Given the description of an element on the screen output the (x, y) to click on. 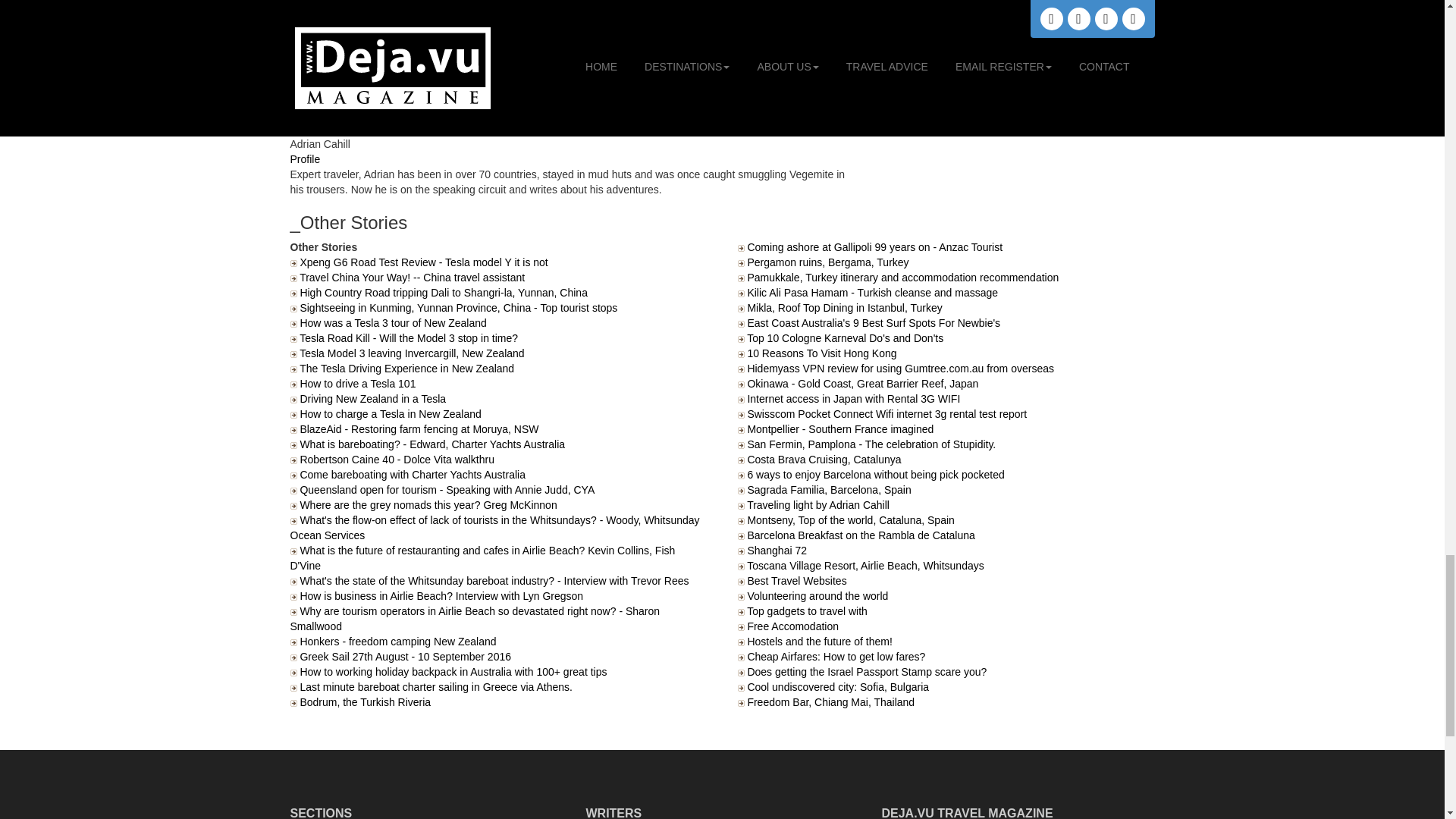
Profile (304, 159)
High Country Road tripping Dali to Shangri-la, Yunnan, China (443, 292)
Travel China Your Way! -- China travel assistant (411, 277)
Xpeng G6 Road Test Review - Tesla model Y it is not (423, 262)
The Tesla Driving Experience in New Zealand (406, 368)
Tesla Model 3 leaving Invercargill, New Zealand (411, 353)
Tesla Road Kill - Will the Model 3 stop in time? (408, 337)
How was a Tesla 3 tour of New Zealand (392, 322)
